Given the description of an element on the screen output the (x, y) to click on. 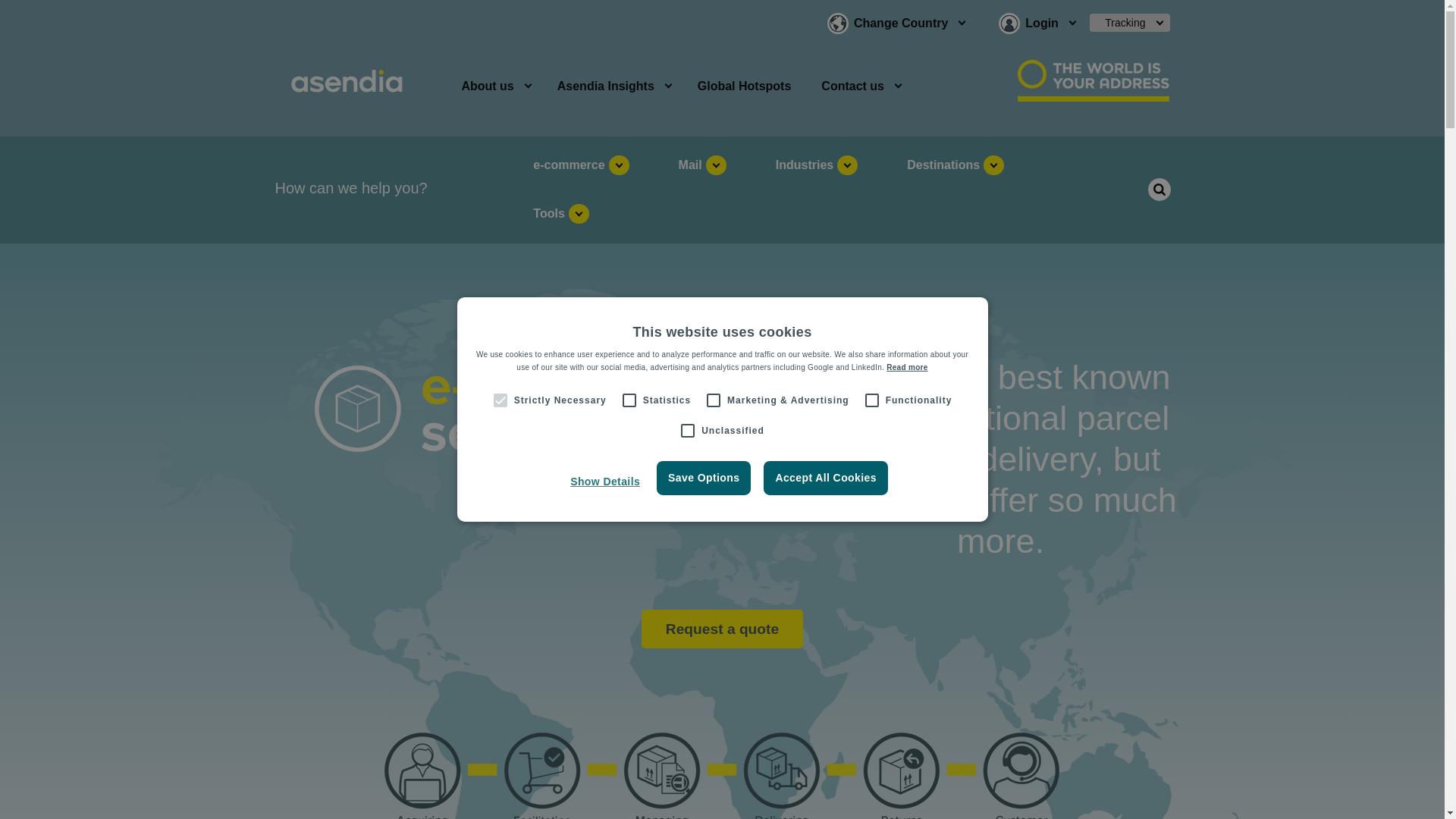
Login (1042, 23)
About us (486, 86)
Change Country (900, 23)
